Given the description of an element on the screen output the (x, y) to click on. 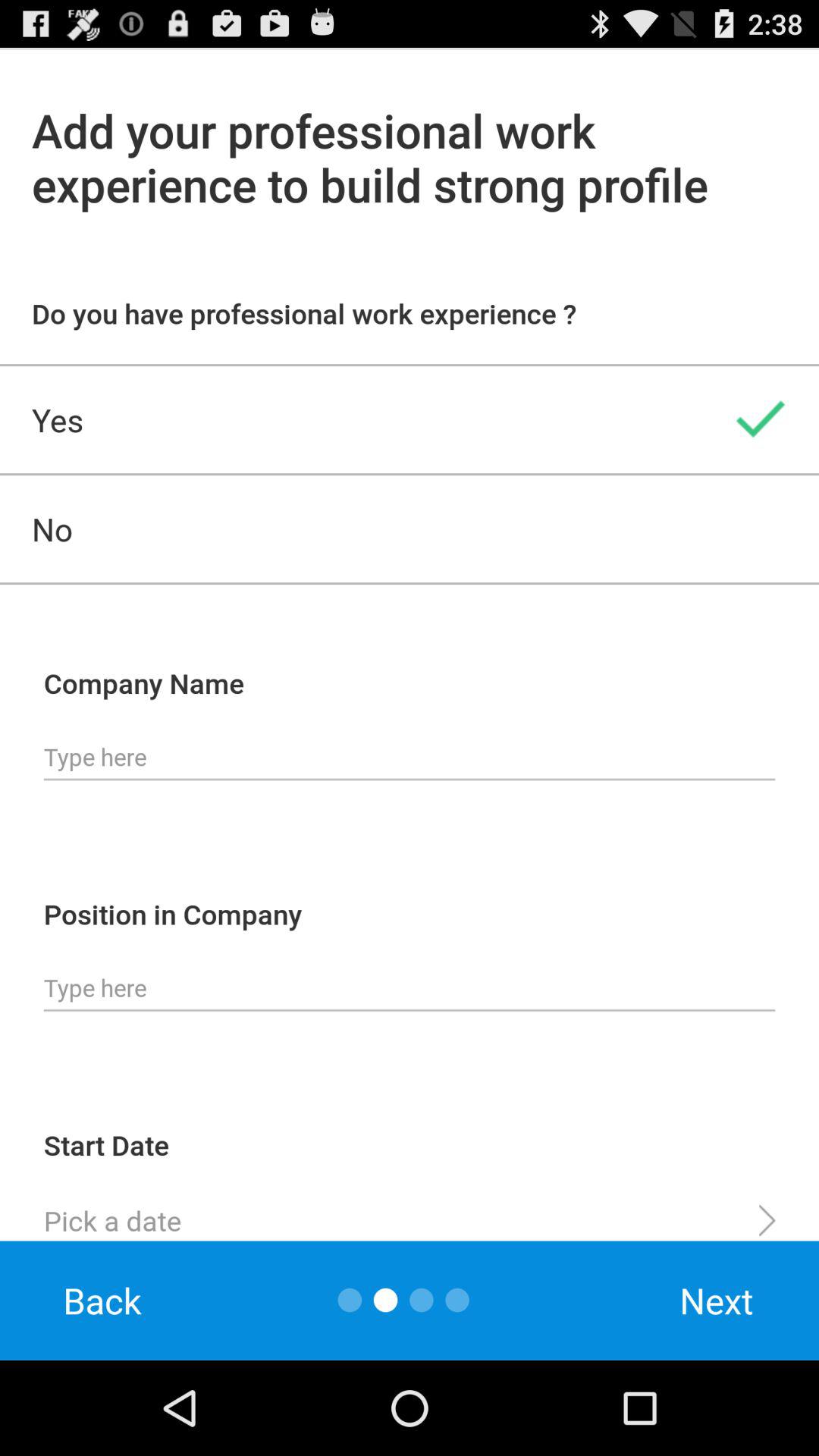
turn on back icon (102, 1300)
